Given the description of an element on the screen output the (x, y) to click on. 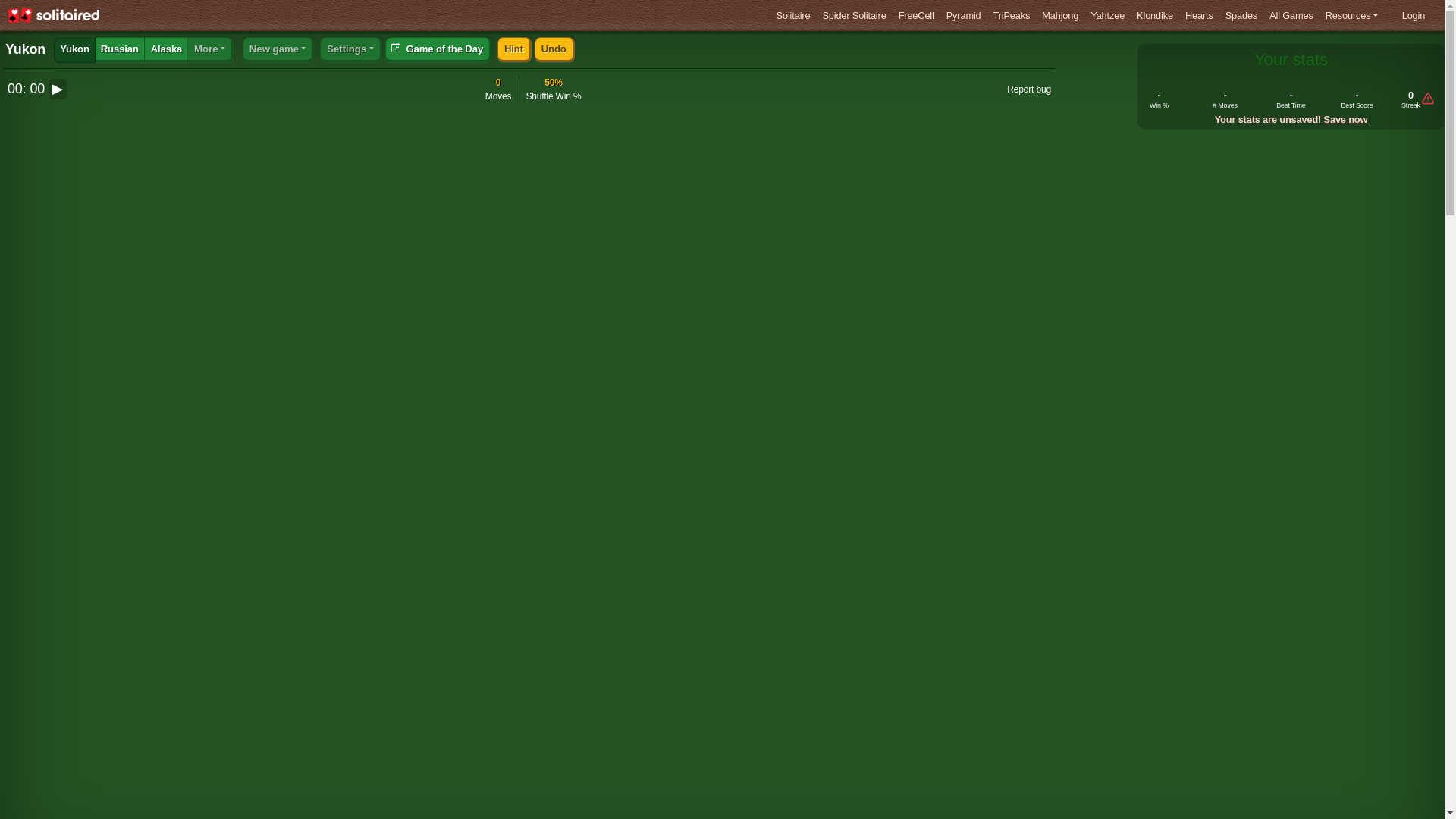
Yahtzee (1107, 15)
All Games (1291, 15)
More (209, 49)
Mahjong (1060, 15)
Hearts (1198, 15)
Pyramid (963, 15)
FreeCell (916, 15)
Settings (350, 49)
Alaska (165, 49)
TriPeaks (1011, 15)
